Given the description of an element on the screen output the (x, y) to click on. 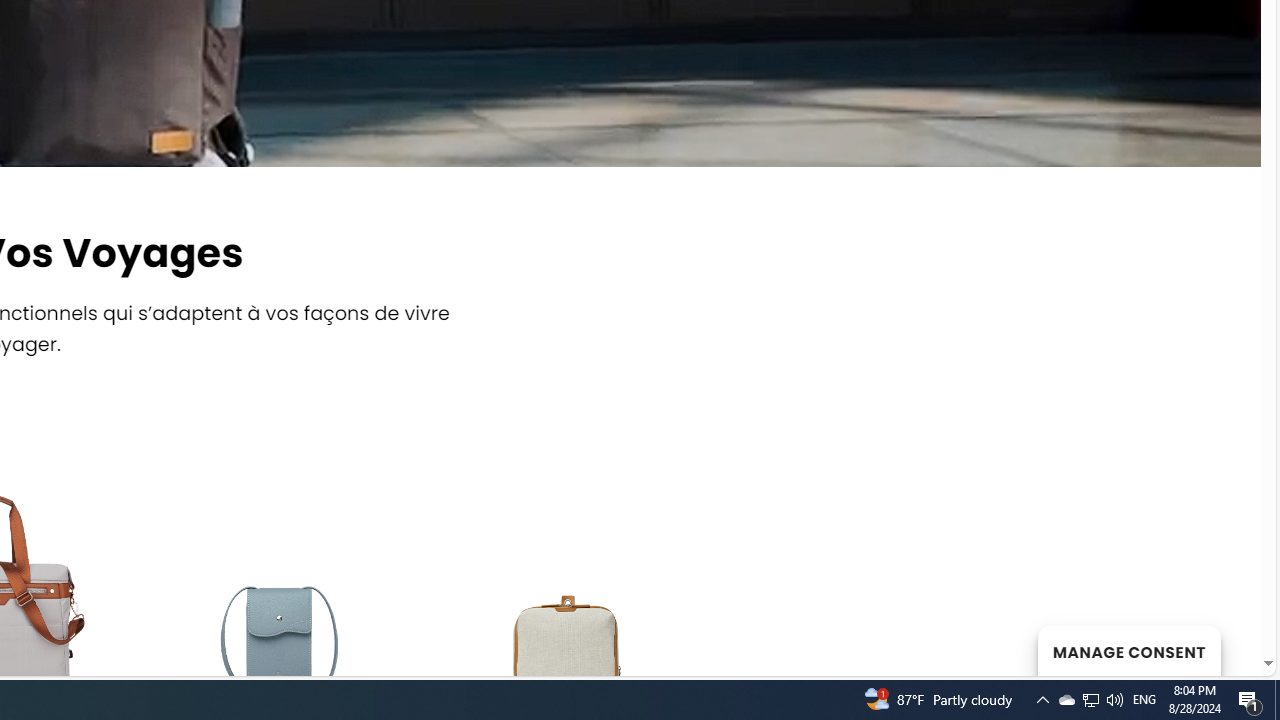
MANAGE CONSENT (1128, 650)
